Given the description of an element on the screen output the (x, y) to click on. 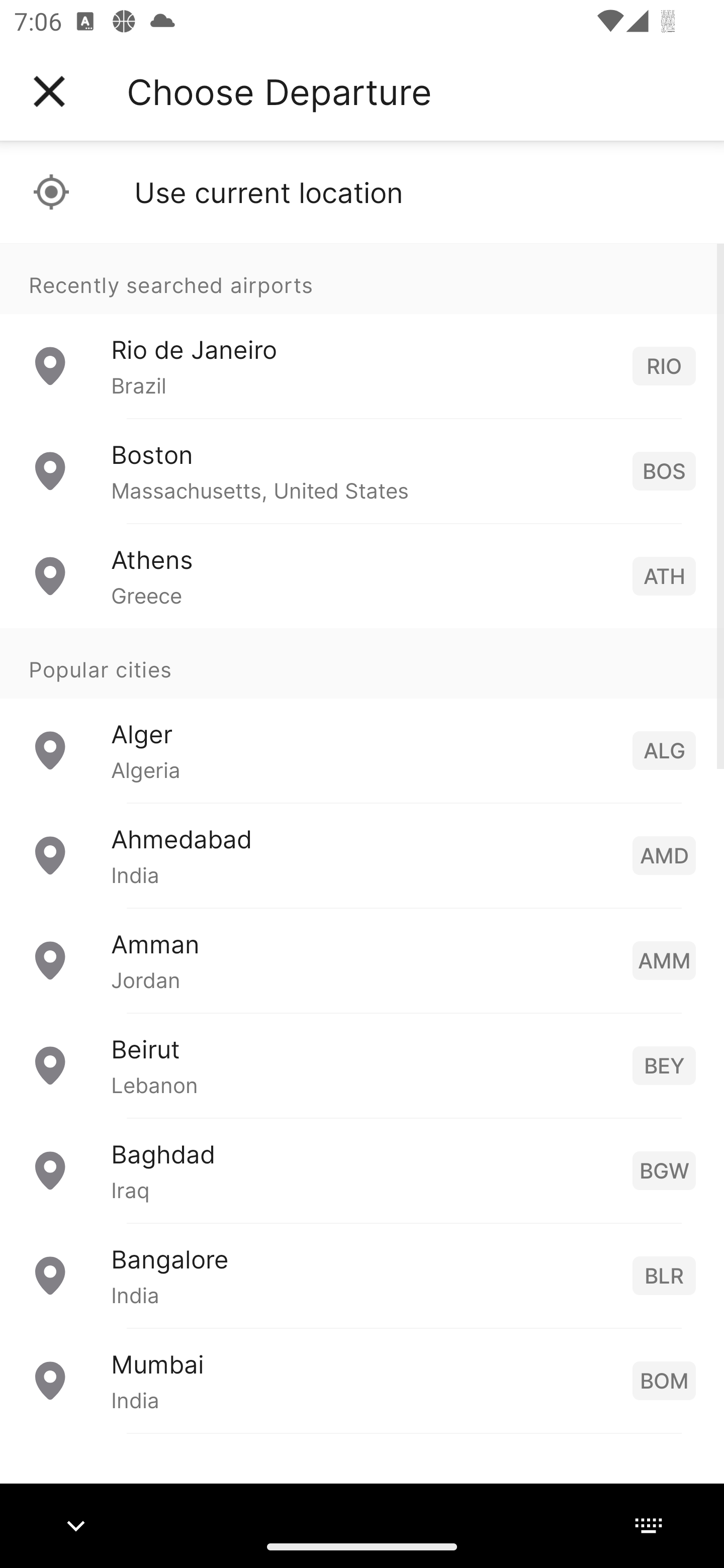
Choose Departure (279, 91)
Use current location (362, 192)
Recently searched airports (362, 278)
Boston Massachusetts, United States BOS (362, 470)
Athens Greece ATH (362, 575)
Popular cities Alger Algeria ALG (362, 715)
Popular cities (362, 663)
Ahmedabad India AMD (362, 854)
Amman Jordan AMM (362, 959)
Beirut Lebanon BEY (362, 1064)
Baghdad Iraq BGW (362, 1170)
Bangalore India BLR (362, 1275)
Mumbai India BOM (362, 1380)
